Given the description of an element on the screen output the (x, y) to click on. 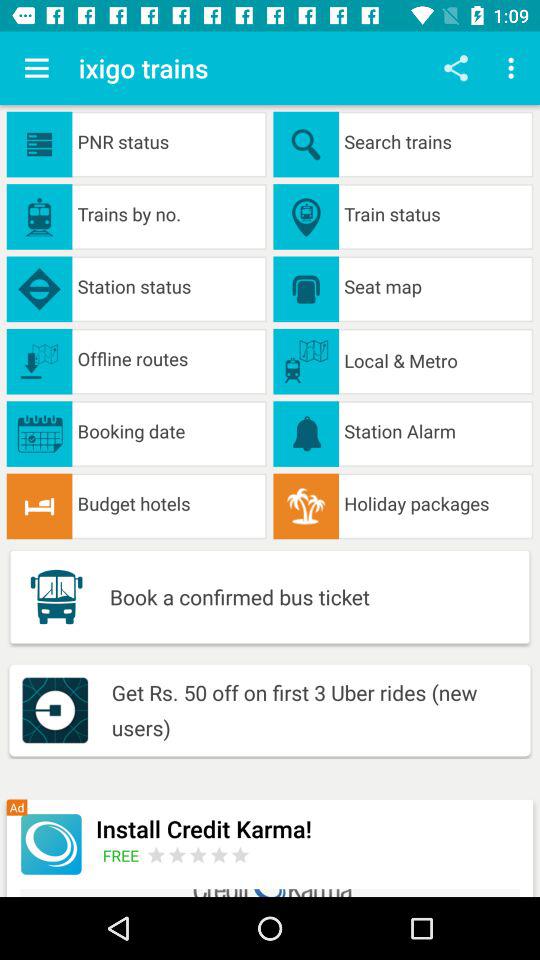
click the app next to ixigo trains (36, 68)
